Given the description of an element on the screen output the (x, y) to click on. 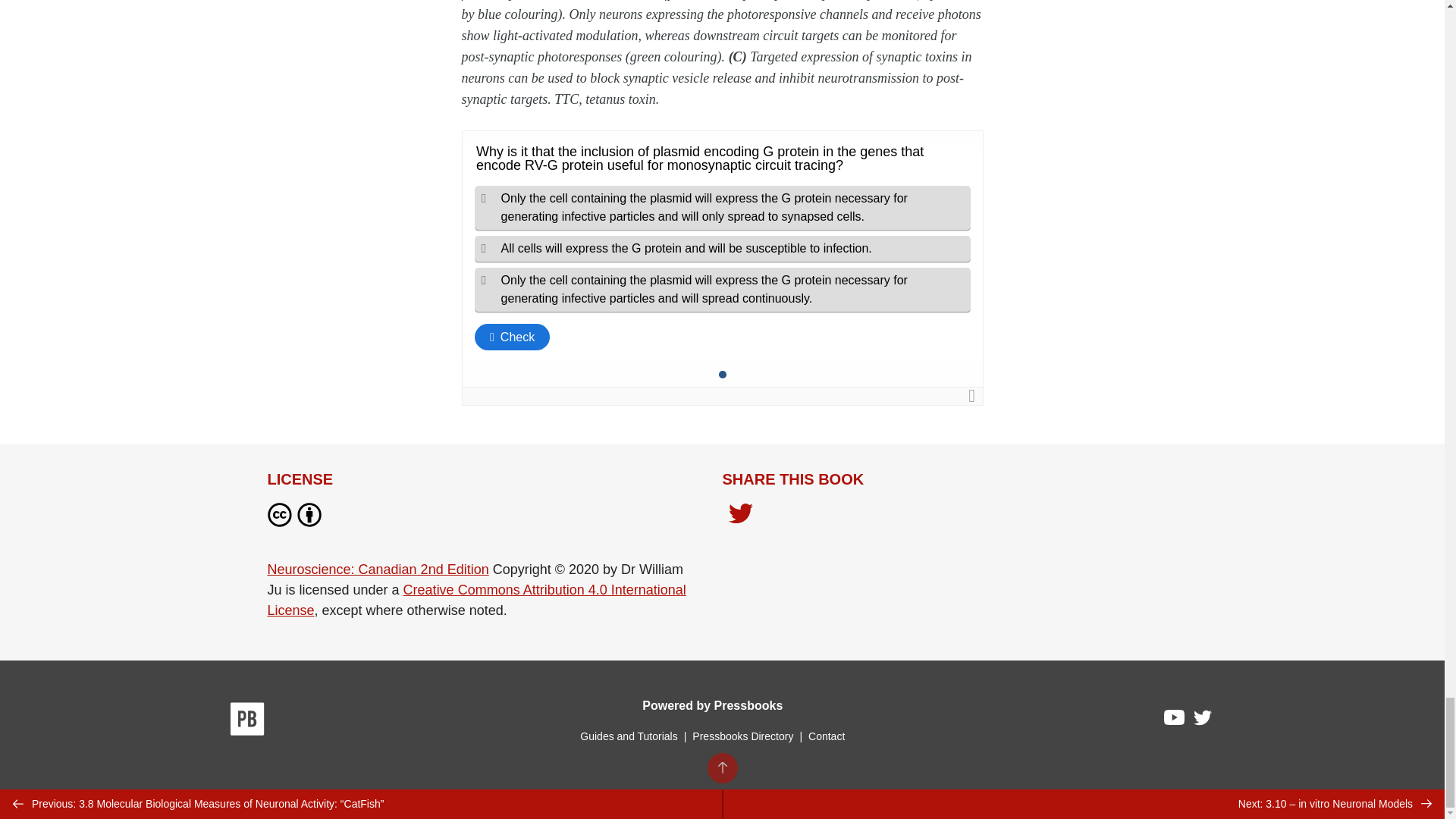
Share on Twitter (740, 514)
